Given the description of an element on the screen output the (x, y) to click on. 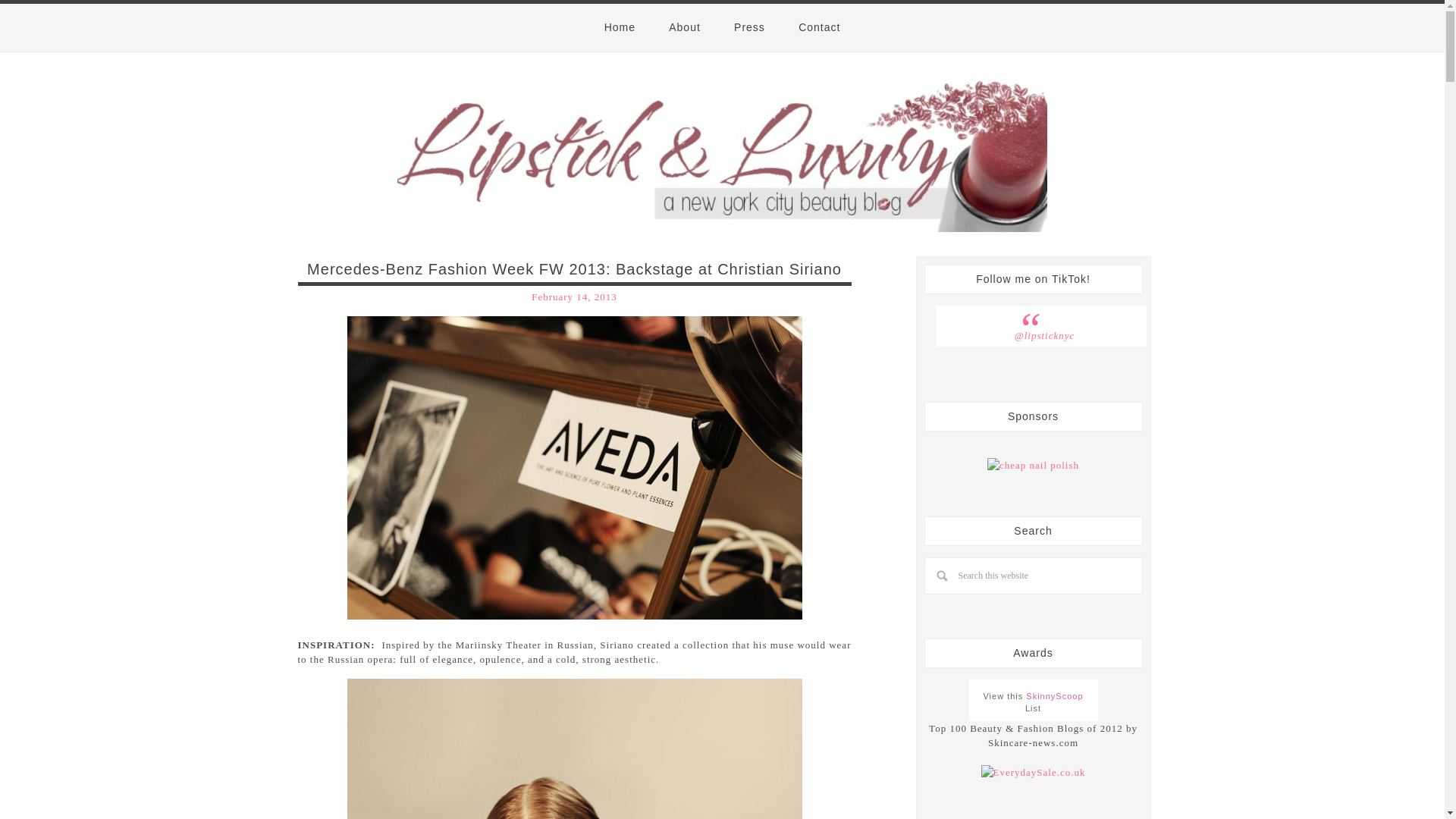
Home (619, 27)
Press (749, 27)
Contact (819, 27)
DHgate has nail art supplies for sale (1032, 465)
About (684, 27)
